Given the description of an element on the screen output the (x, y) to click on. 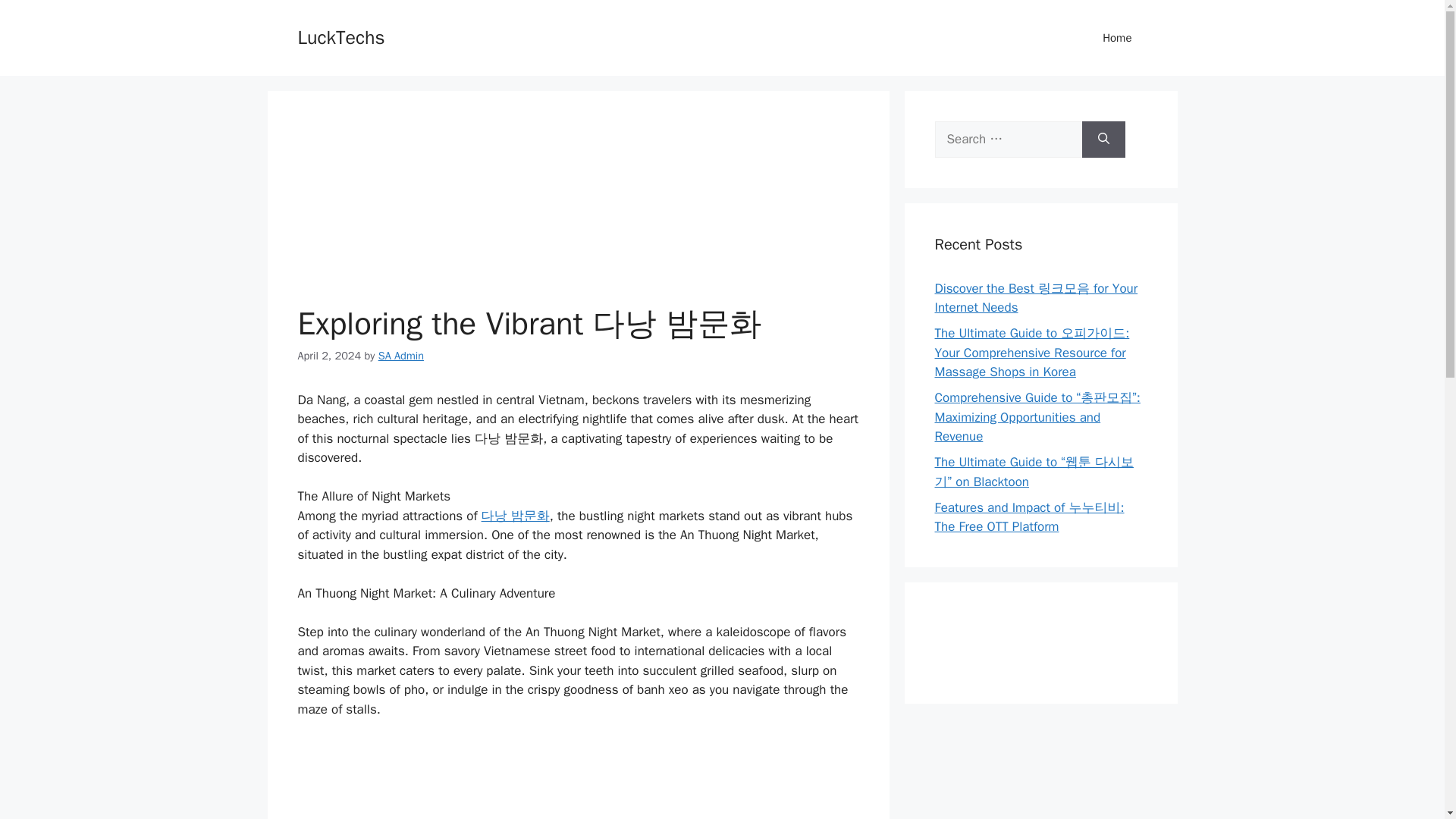
Home (1117, 37)
Search for: (1007, 139)
LuckTechs (340, 37)
SA Admin (400, 355)
View all posts by SA Admin (400, 355)
